Given the description of an element on the screen output the (x, y) to click on. 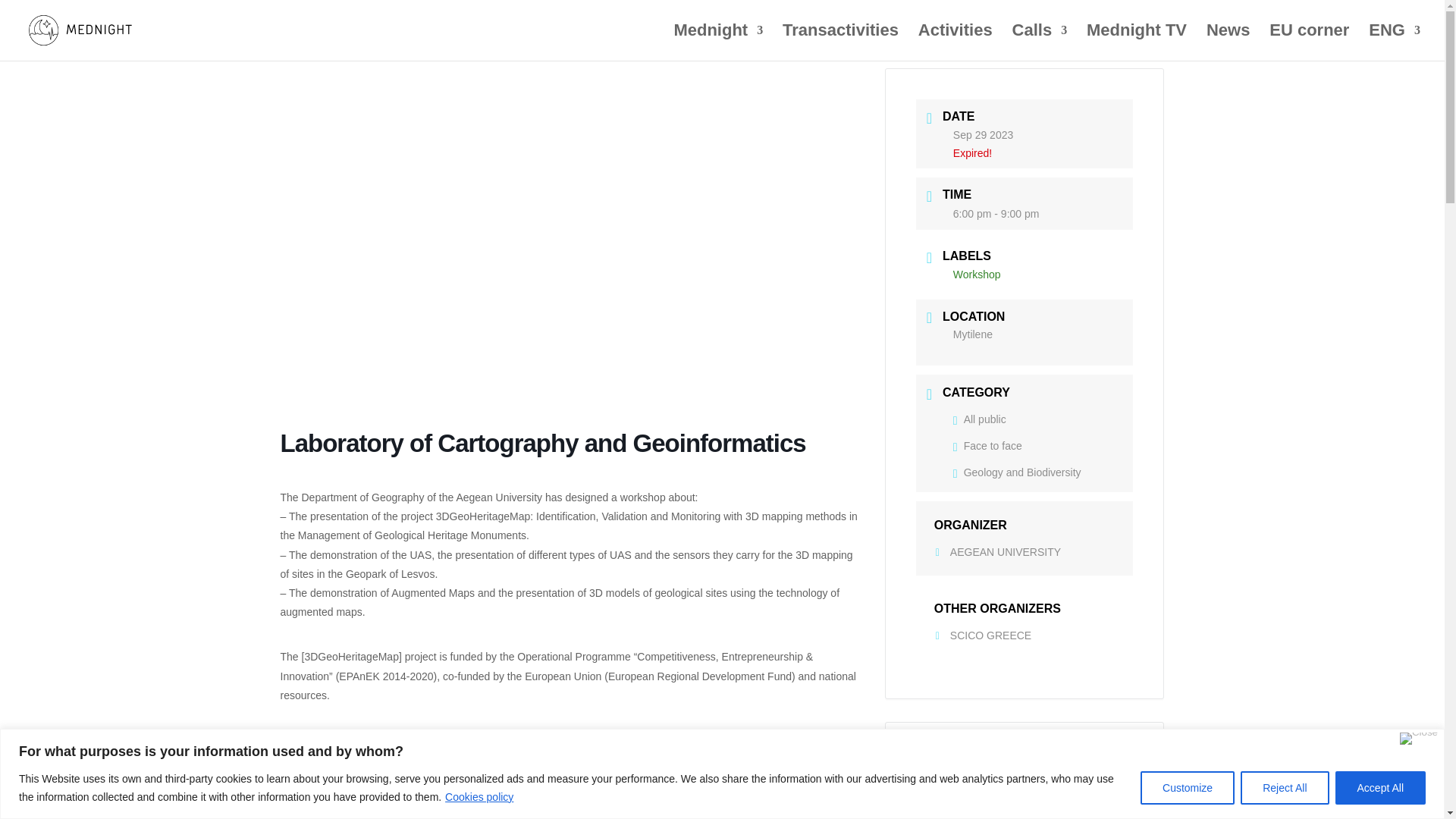
Email (1073, 813)
Share on Facebook (971, 813)
Mednight (717, 42)
Tweet (1005, 813)
News (1228, 42)
Mednight TV (1136, 42)
Cookies policy (478, 796)
ENG (1394, 42)
Activities (955, 42)
EU corner (1309, 42)
Customize (1187, 786)
Accept All (1380, 786)
Face to face (987, 445)
Calls (1039, 42)
Transactivities (840, 42)
